Given the description of an element on the screen output the (x, y) to click on. 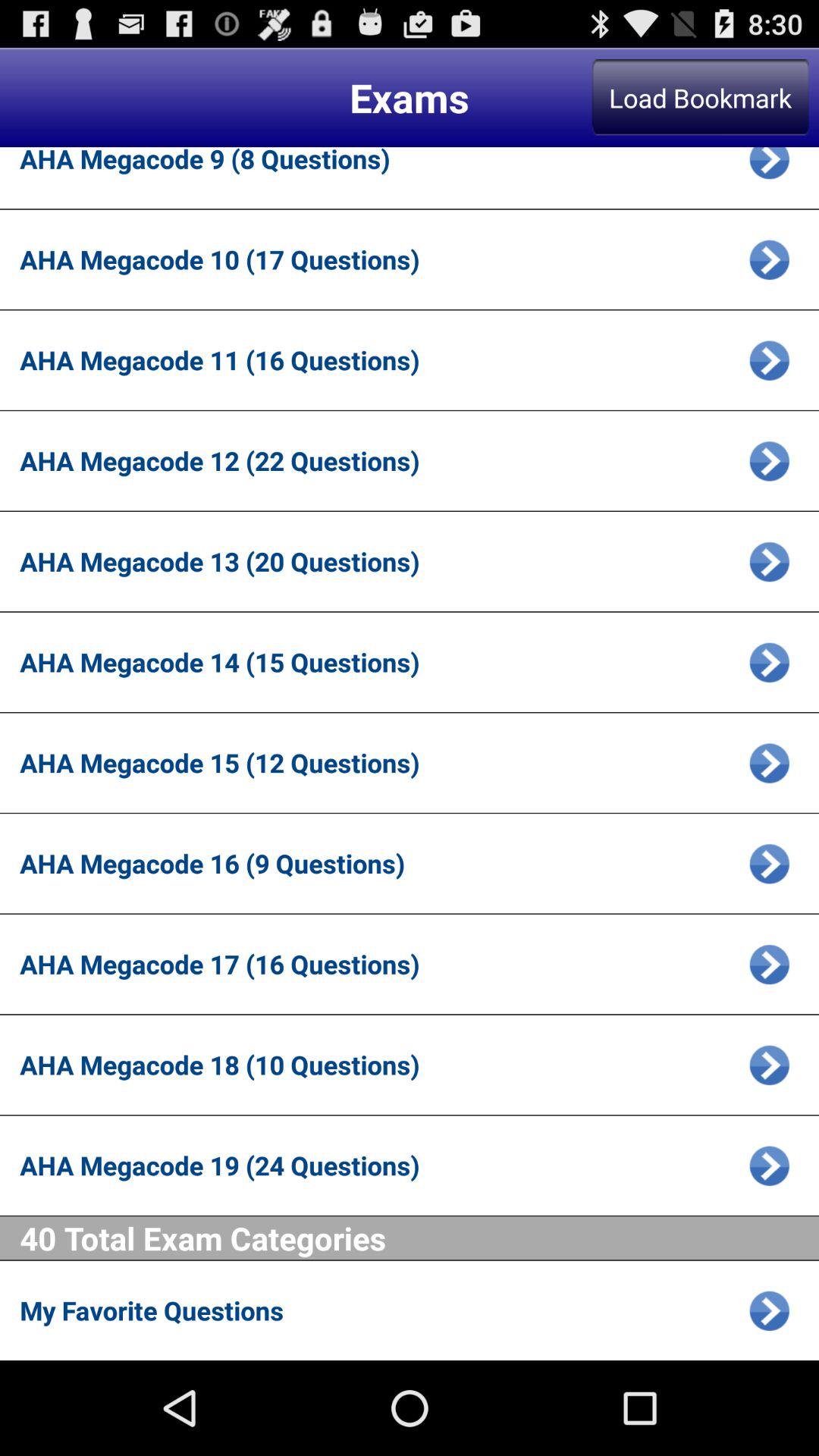
flip to the 40 total exam icon (419, 1237)
